Given the description of an element on the screen output the (x, y) to click on. 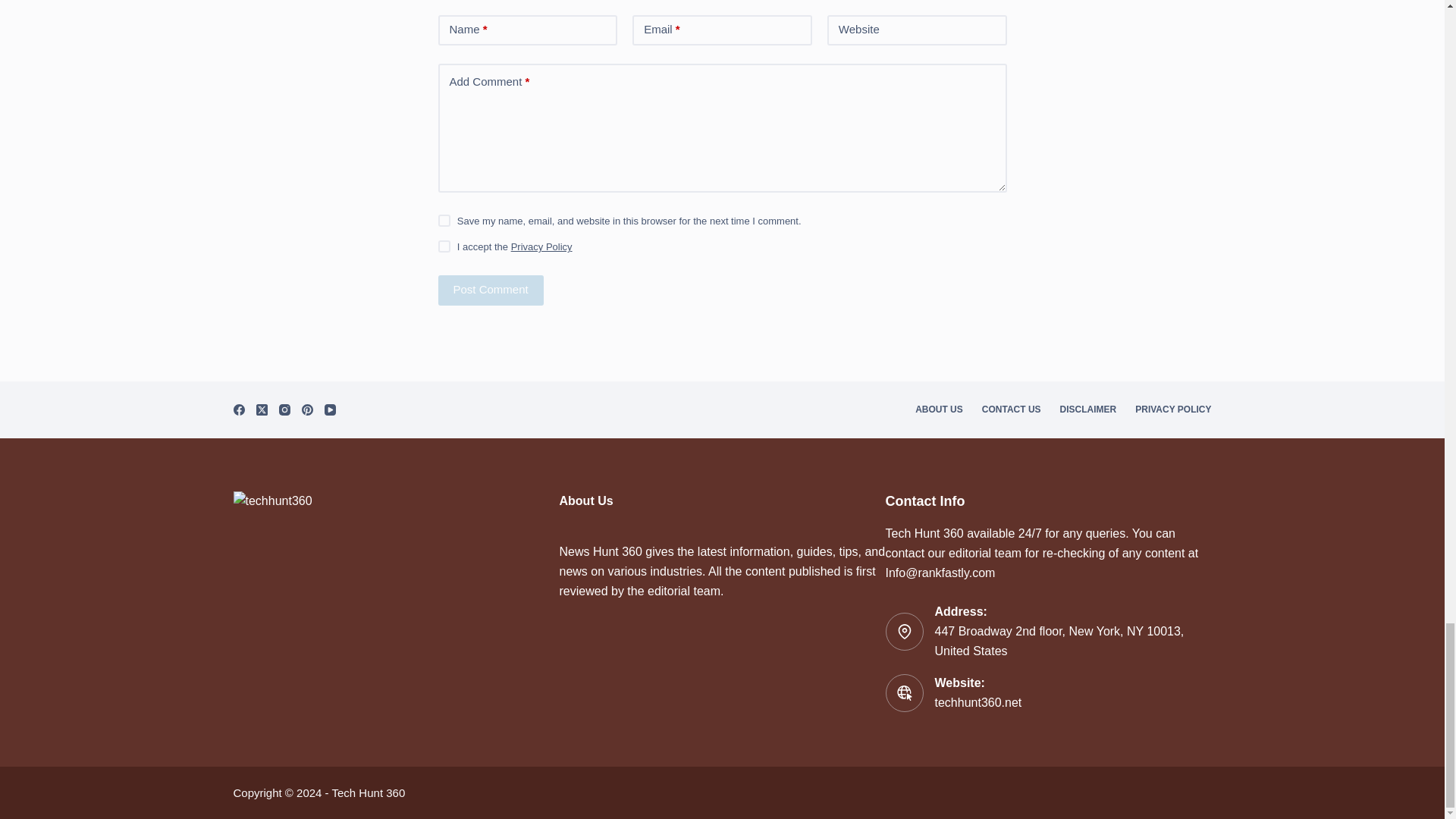
yes (443, 220)
on (443, 246)
